Given the description of an element on the screen output the (x, y) to click on. 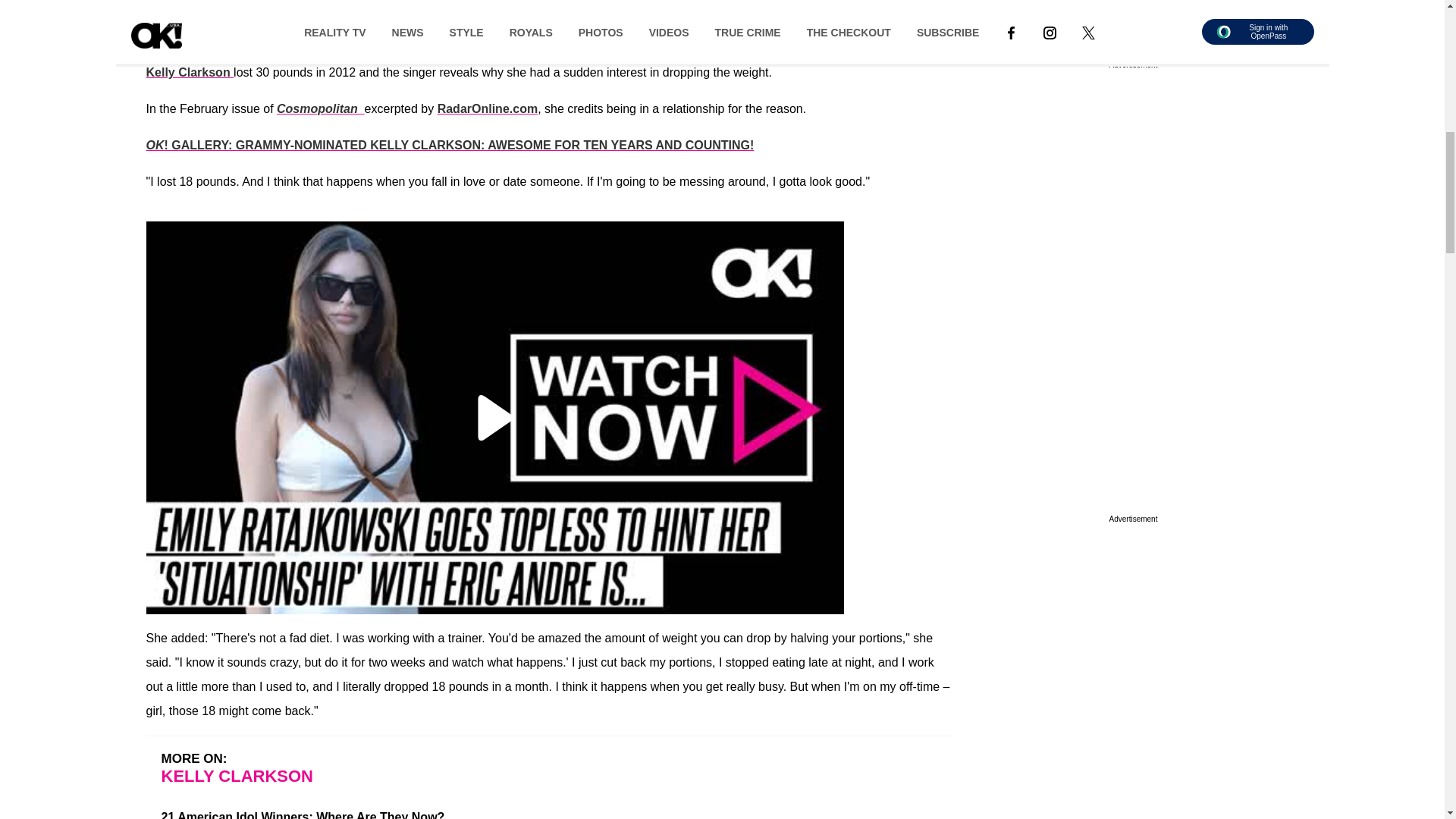
Kelly Clarkson (188, 72)
Cosmopolitan  (320, 108)
